Given the description of an element on the screen output the (x, y) to click on. 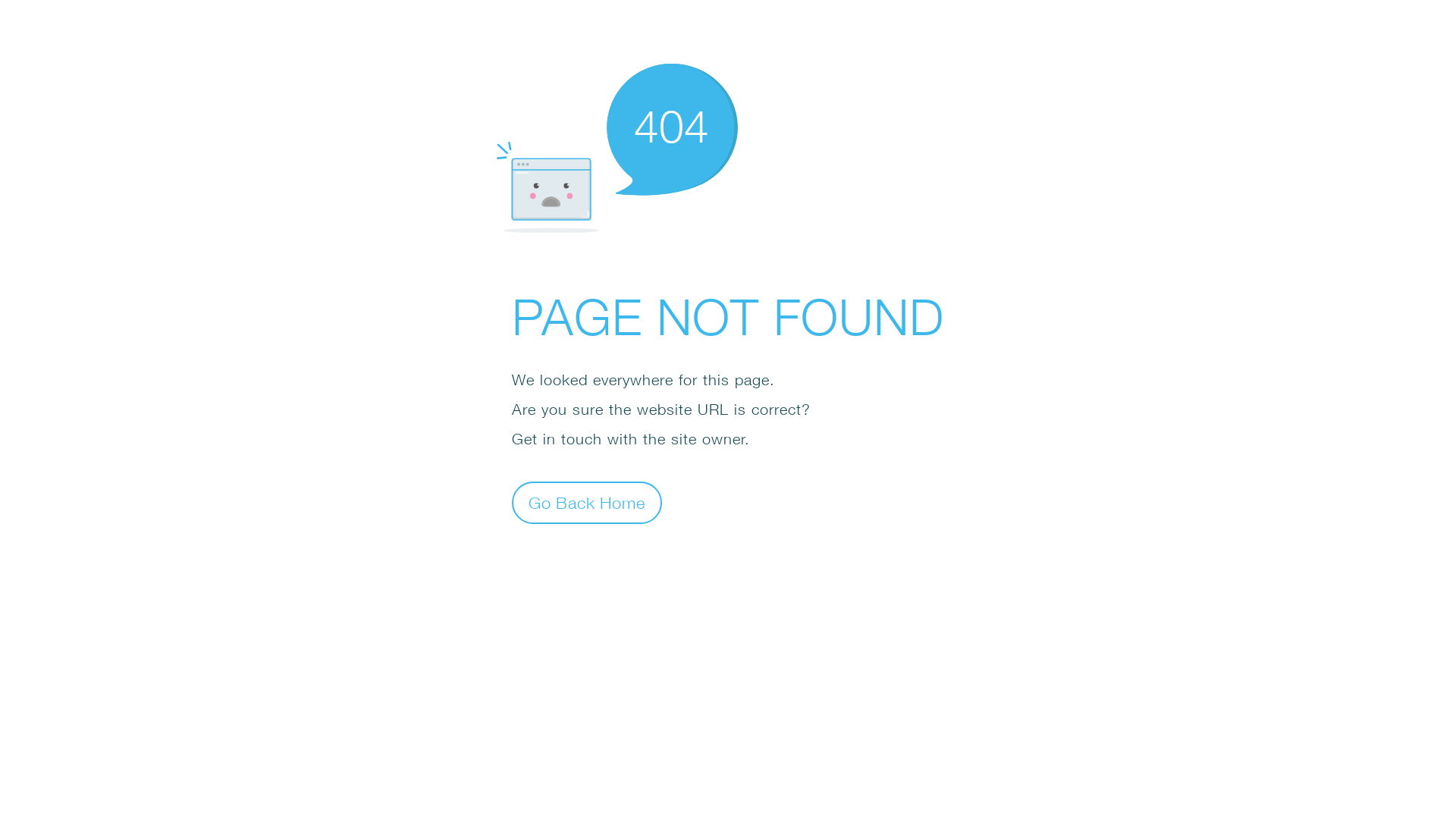
Go Back Home Element type: text (586, 502)
